Given the description of an element on the screen output the (x, y) to click on. 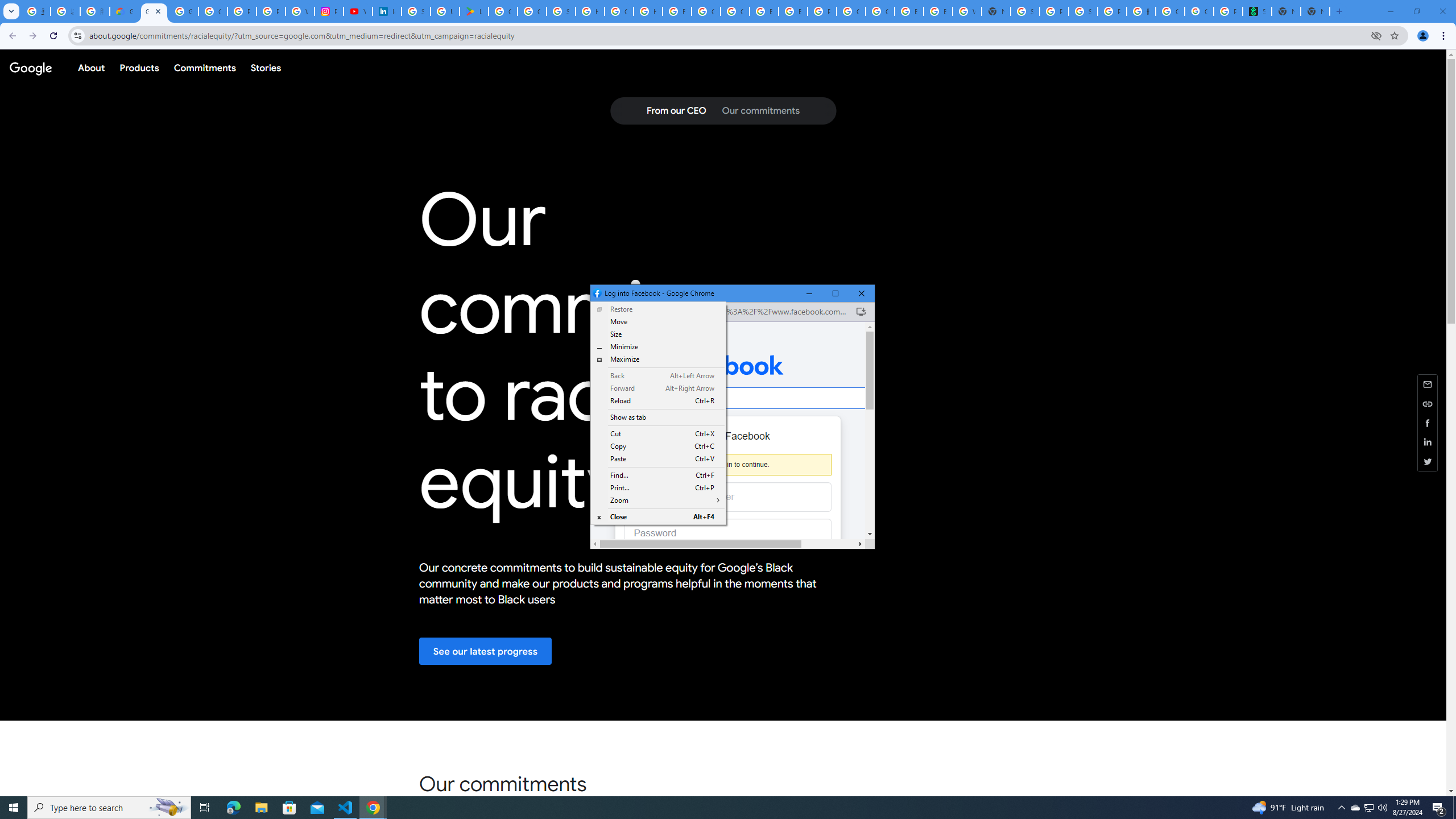
Search highlights icon opens search home window (167, 807)
Q2790: 100% (1382, 807)
